Given the description of an element on the screen output the (x, y) to click on. 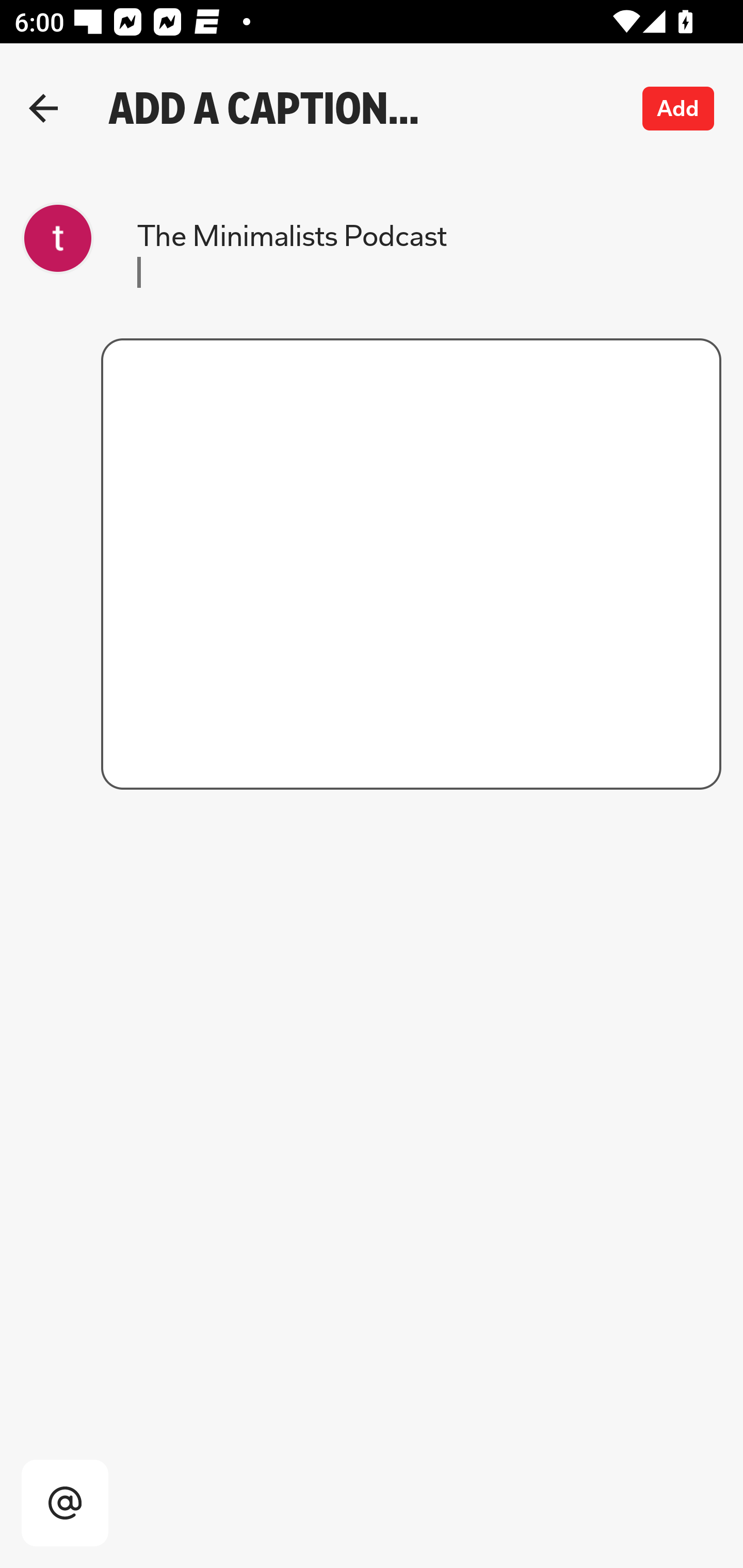
Add (678, 108)
The Minimalists Podcast
 (360, 252)
